Given the description of an element on the screen output the (x, y) to click on. 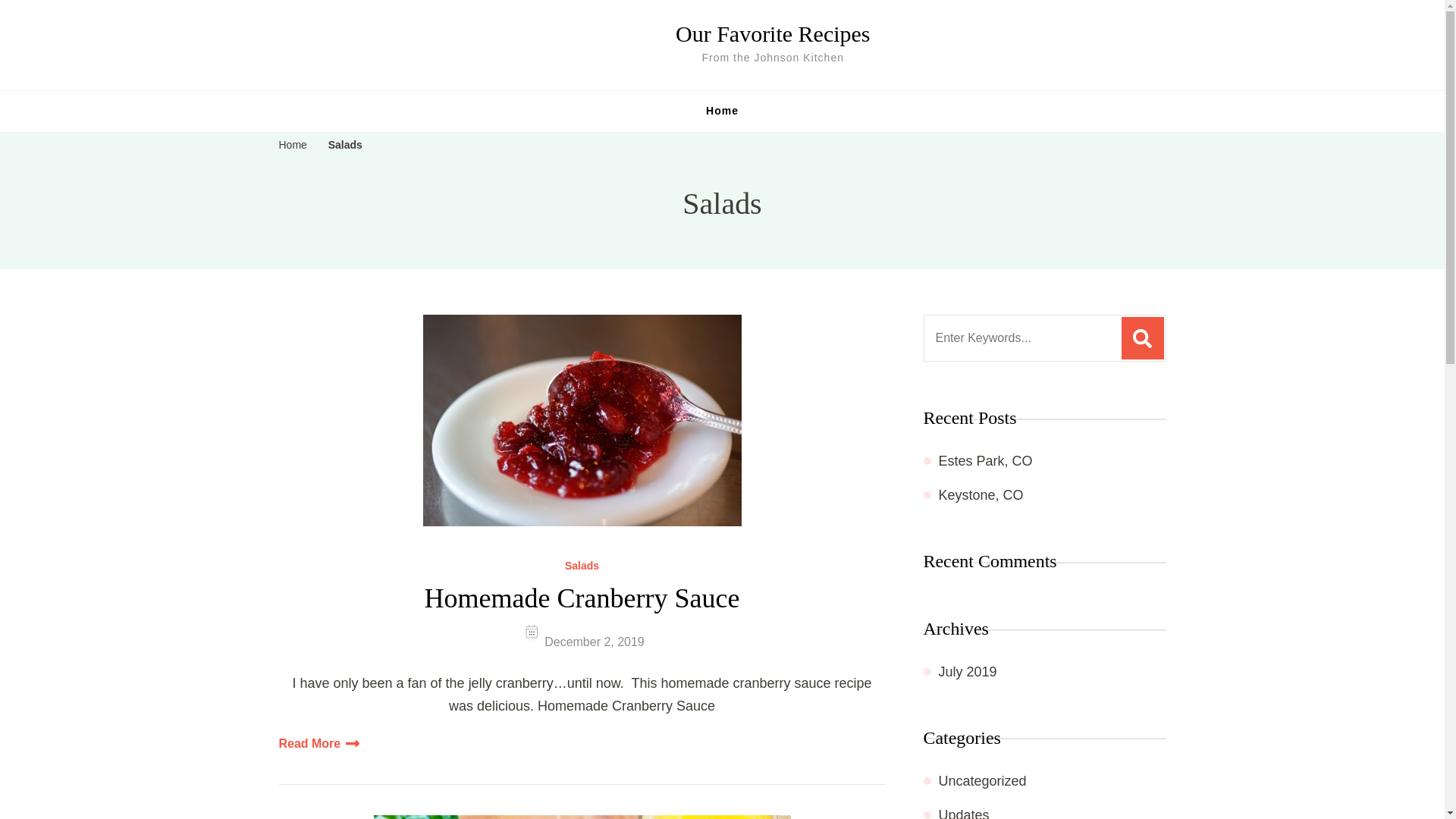
Salads (345, 145)
Updates (964, 813)
Uncategorized (982, 780)
Salads (581, 565)
Home (722, 110)
Read More (319, 743)
Search (1141, 338)
July 2019 (968, 671)
Keystone, CO (981, 494)
Home (293, 145)
December 2, 2019 (594, 641)
Homemade Cranberry Sauce (582, 598)
Our Favorite Recipes (772, 33)
Search (1141, 338)
Estes Park, CO (985, 460)
